Given the description of an element on the screen output the (x, y) to click on. 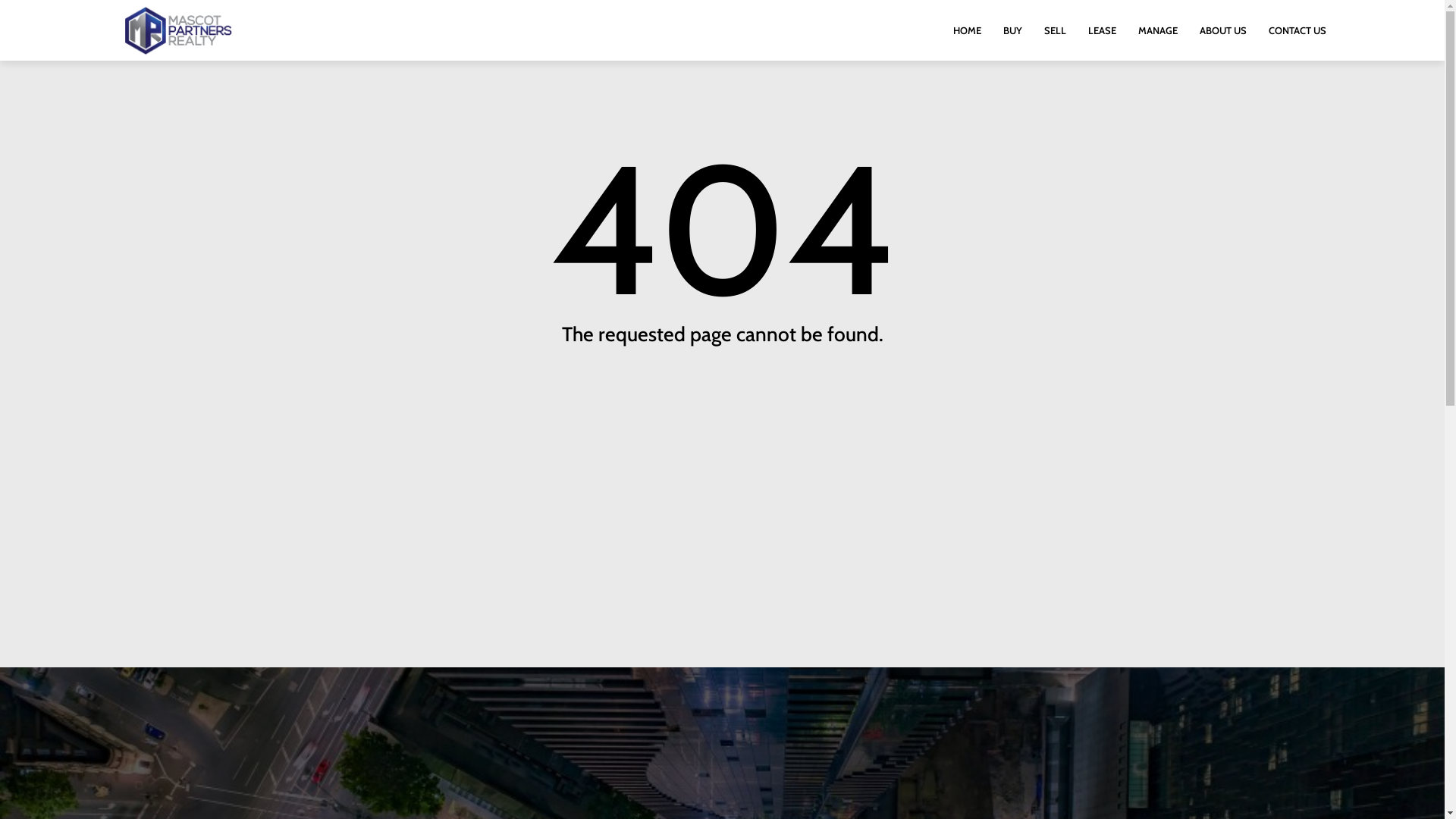
SELL Element type: text (1055, 30)
CONTACT US Element type: text (1297, 30)
MANAGE Element type: text (1157, 30)
LEASE Element type: text (1102, 30)
ABOUT US Element type: text (1222, 30)
HOME Element type: text (967, 30)
BUY Element type: text (1012, 30)
